Given the description of an element on the screen output the (x, y) to click on. 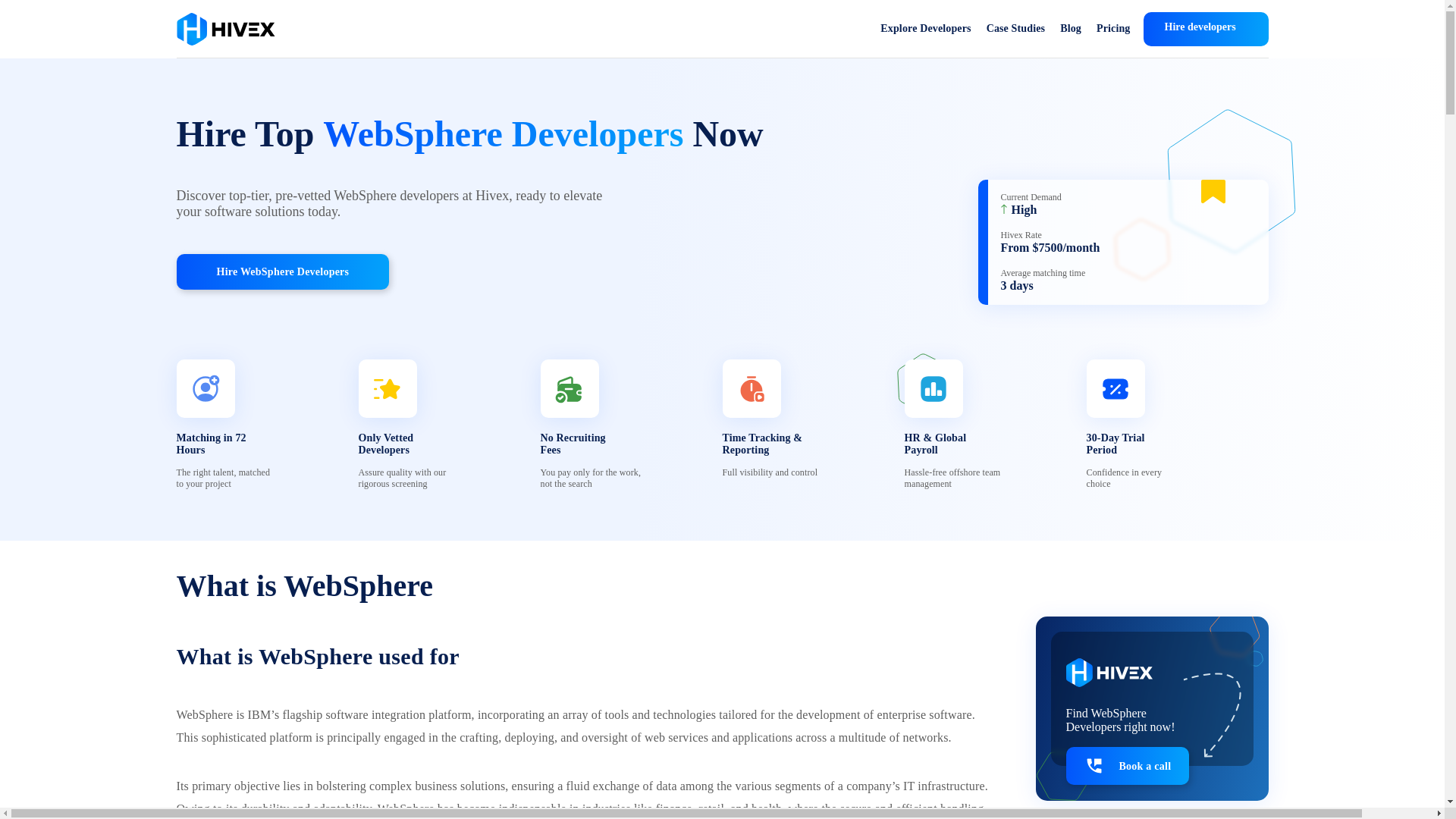
Explore Developers (925, 28)
Blog (1070, 28)
Hire WebSphere Developers (282, 271)
Case Studies (1016, 28)
Pricing (1113, 28)
Hire developers (1205, 28)
Book a call (1127, 765)
